Given the description of an element on the screen output the (x, y) to click on. 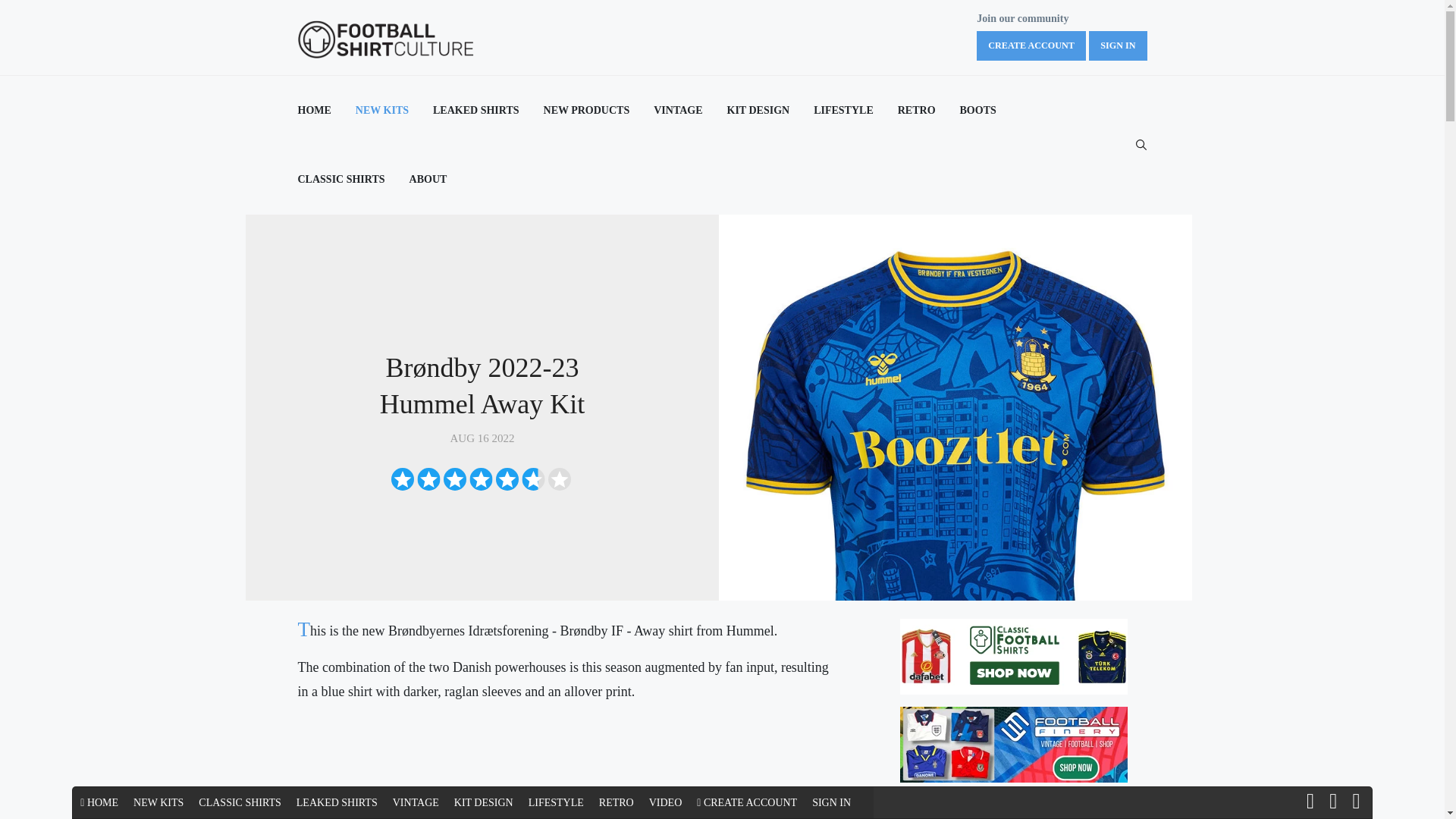
KIT DESIGN (758, 110)
SIGN IN (1118, 45)
CREATE ACCOUNT (1030, 45)
LEAKED SHIRTS (475, 110)
Football Shirt Culture (386, 39)
CLASSIC SHIRTS (340, 178)
Advertisement (566, 767)
NEW PRODUCTS (586, 110)
